Given the description of an element on the screen output the (x, y) to click on. 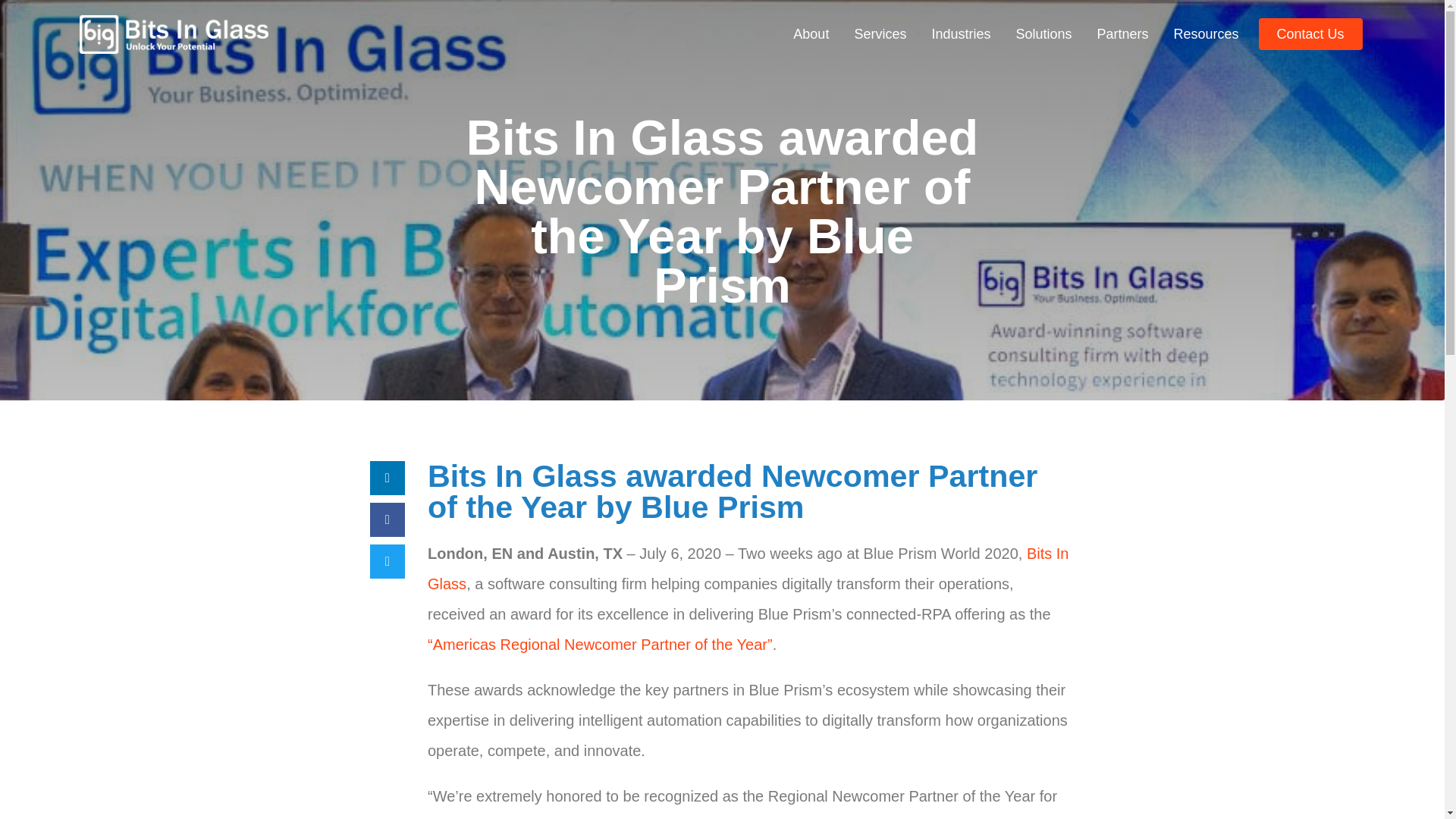
About (810, 33)
Contact Us (1310, 33)
Solutions (1042, 33)
Partners (1122, 33)
Bits In Glass (748, 568)
Industries (960, 33)
Services (879, 33)
Resources (1206, 33)
